Given the description of an element on the screen output the (x, y) to click on. 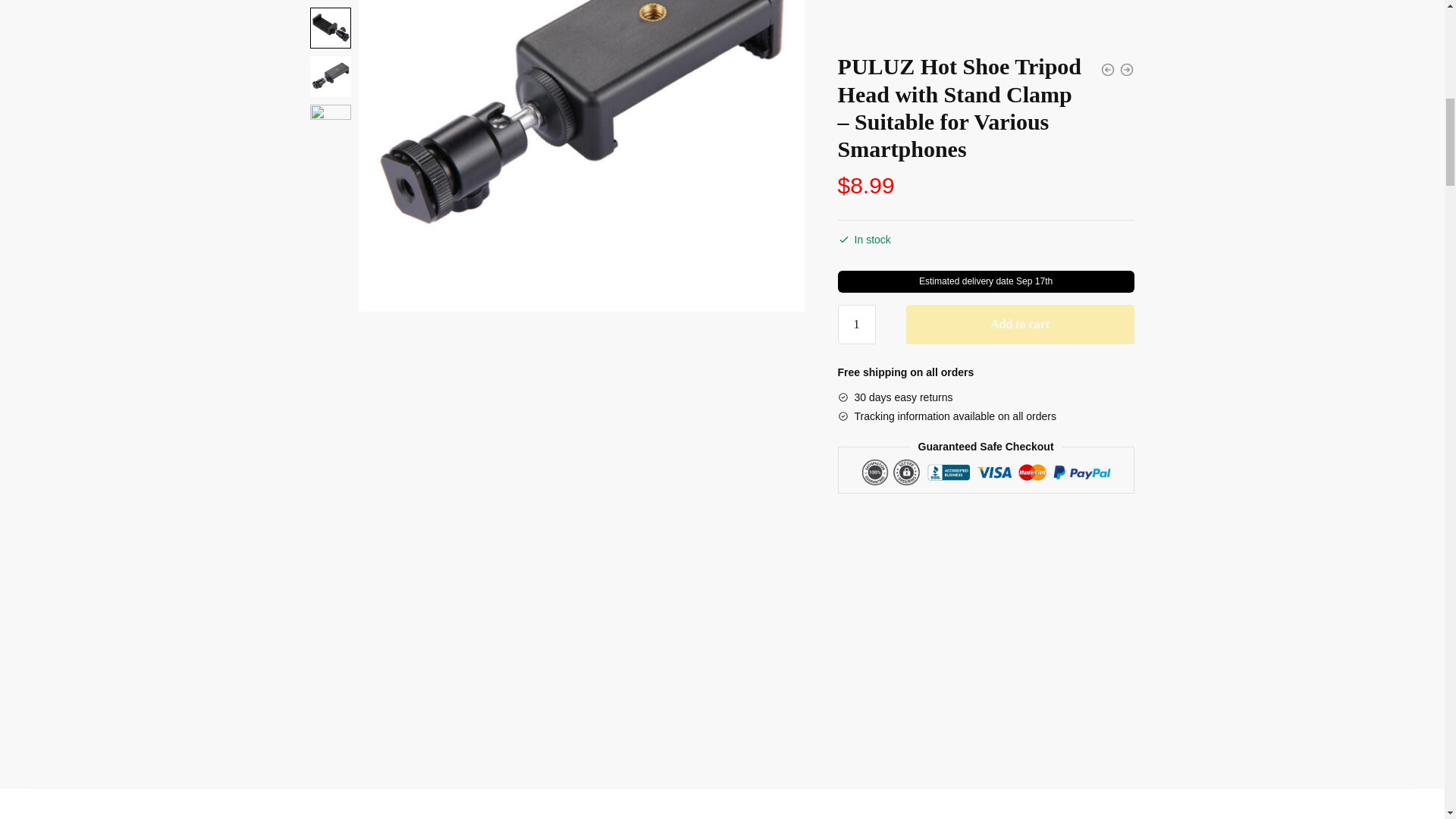
Description (720, 812)
